Given the description of an element on the screen output the (x, y) to click on. 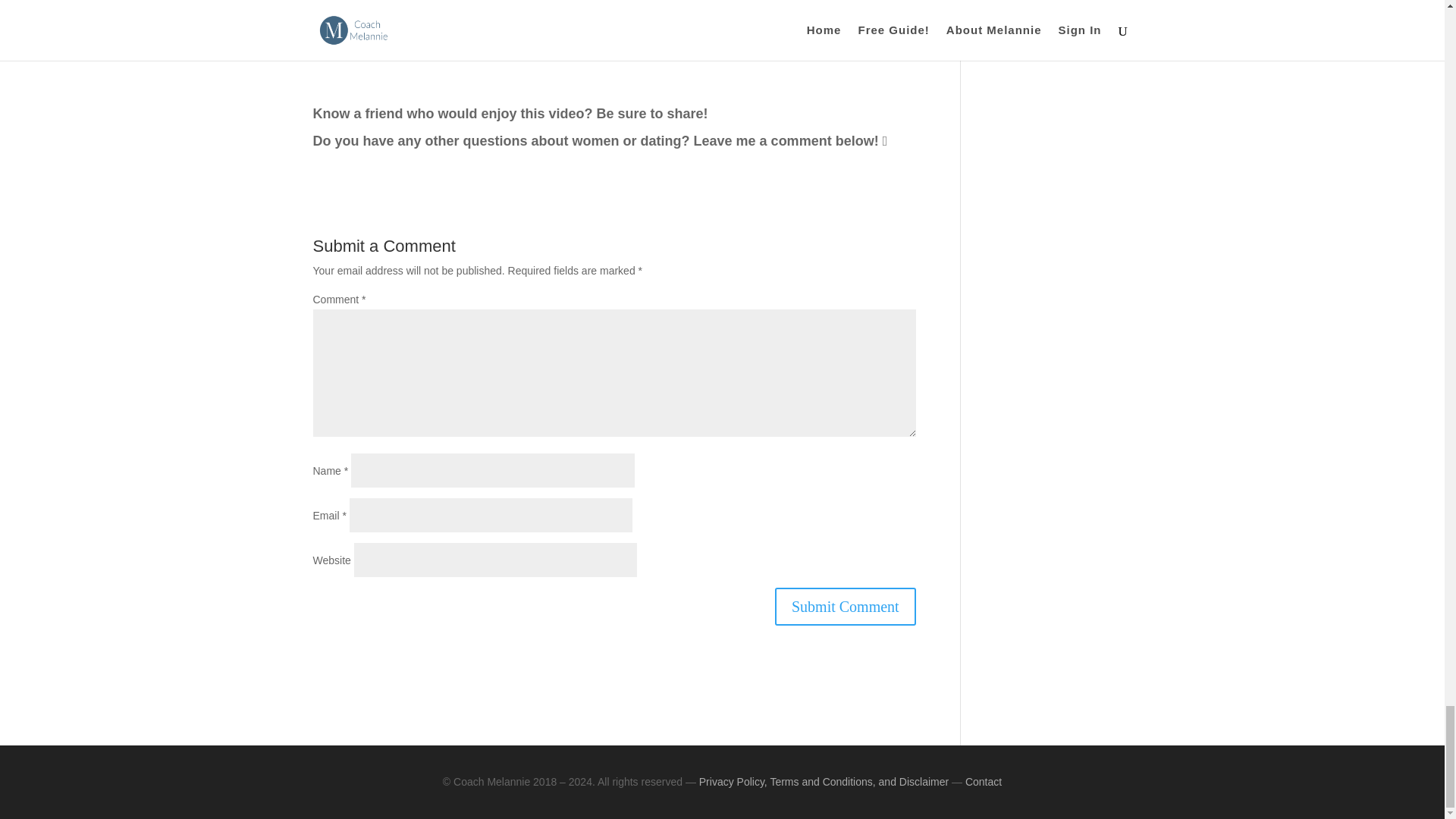
HOW TO BE CONFIDENT AROUND WOMEN (614, 55)
Submit Comment (844, 606)
Submit Comment (844, 606)
Contact (983, 781)
Privacy Policy, Terms and Conditions, and Disclaimer (823, 781)
